Given the description of an element on the screen output the (x, y) to click on. 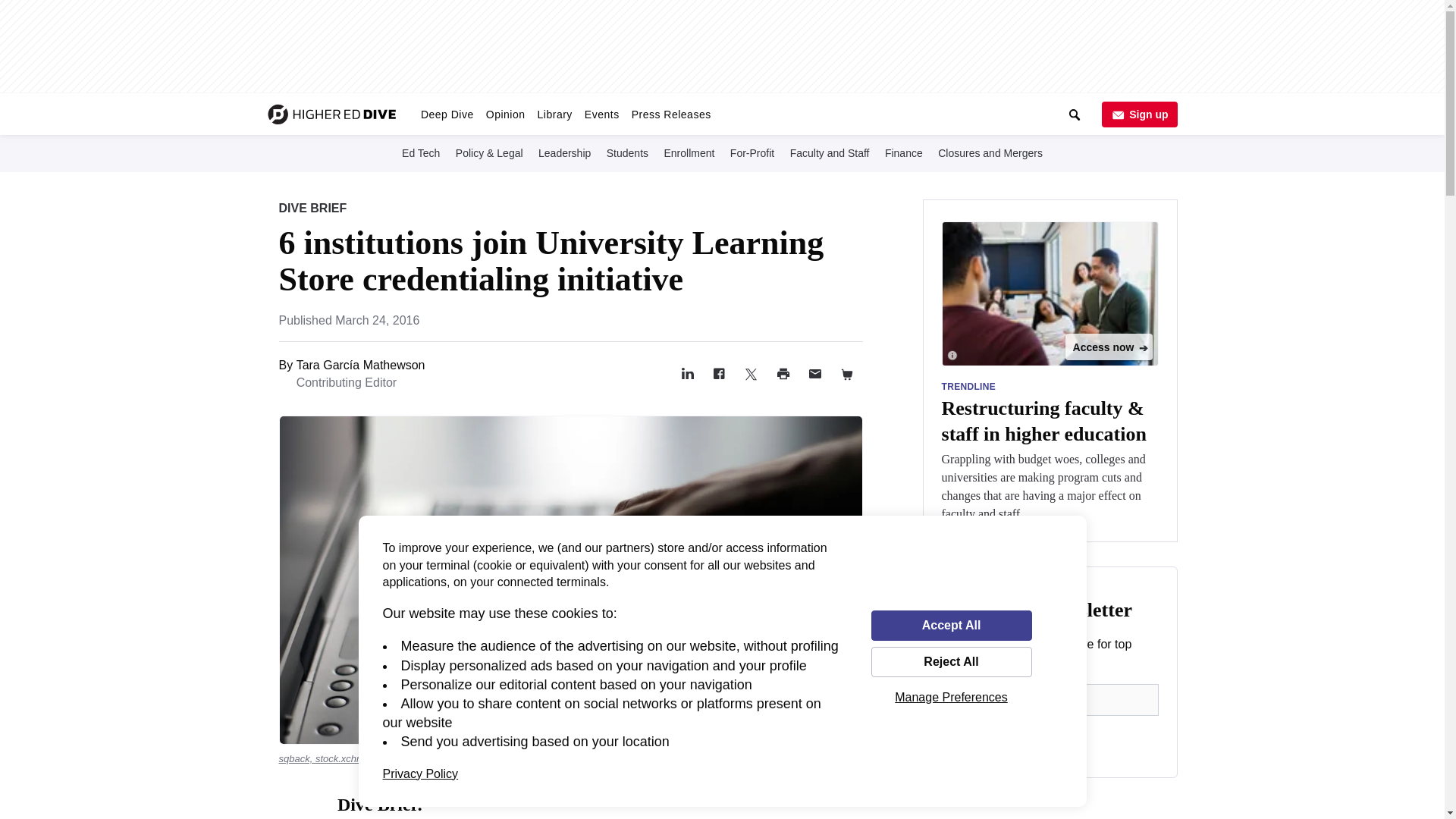
Press Releases (671, 114)
Sign up (1138, 114)
Enrollment (689, 152)
Deep Dive (447, 114)
Leadership (564, 152)
Opinion (505, 114)
Faculty and Staff (829, 152)
sqback, stock.xchng (323, 758)
Ed Tech (420, 152)
Finance (904, 152)
